Given the description of an element on the screen output the (x, y) to click on. 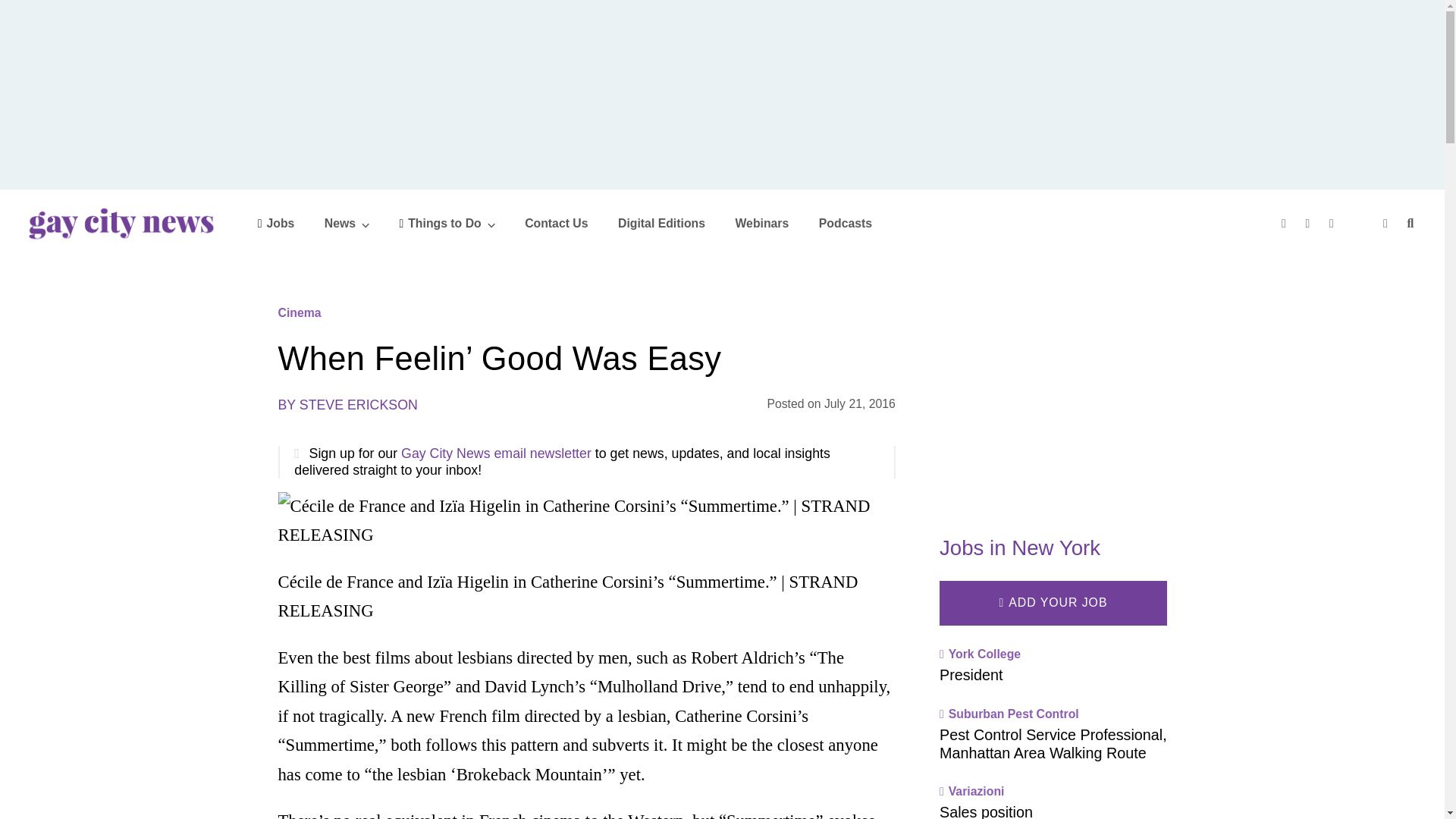
News (346, 223)
Digital Editions (660, 223)
Webinars (762, 223)
Jobs (276, 223)
Things to Do (446, 223)
Contact Us (556, 223)
Podcasts (845, 223)
